Given the description of an element on the screen output the (x, y) to click on. 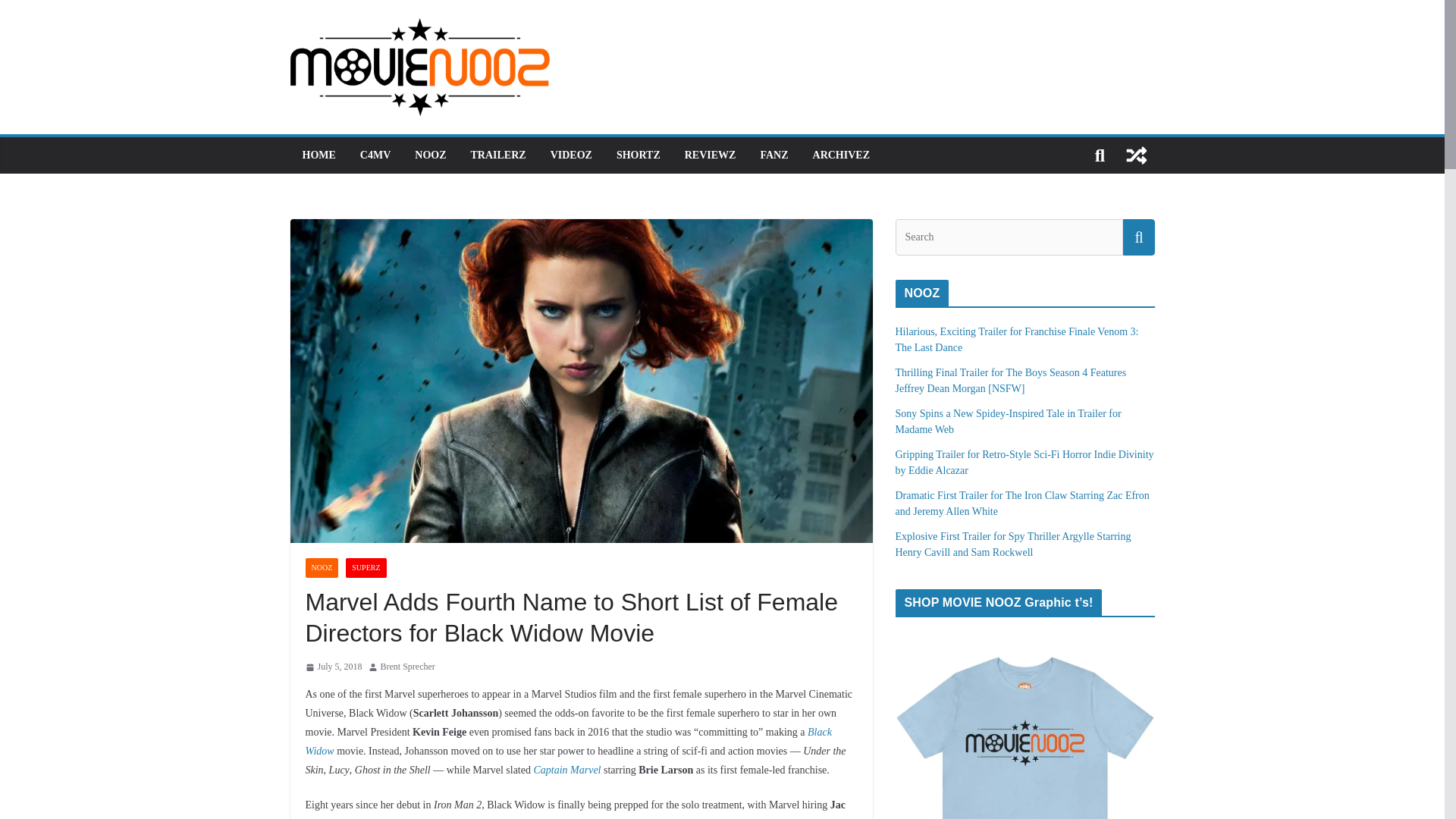
REVIEWZ (710, 155)
July 5, 2018 (332, 667)
Black Widow (567, 741)
HOME (317, 155)
Brent Sprecher (407, 667)
Brent Sprecher (407, 667)
FANZ (773, 155)
TRAILERZ (497, 155)
SHORTZ (638, 155)
SUPERZ (365, 567)
